Given the description of an element on the screen output the (x, y) to click on. 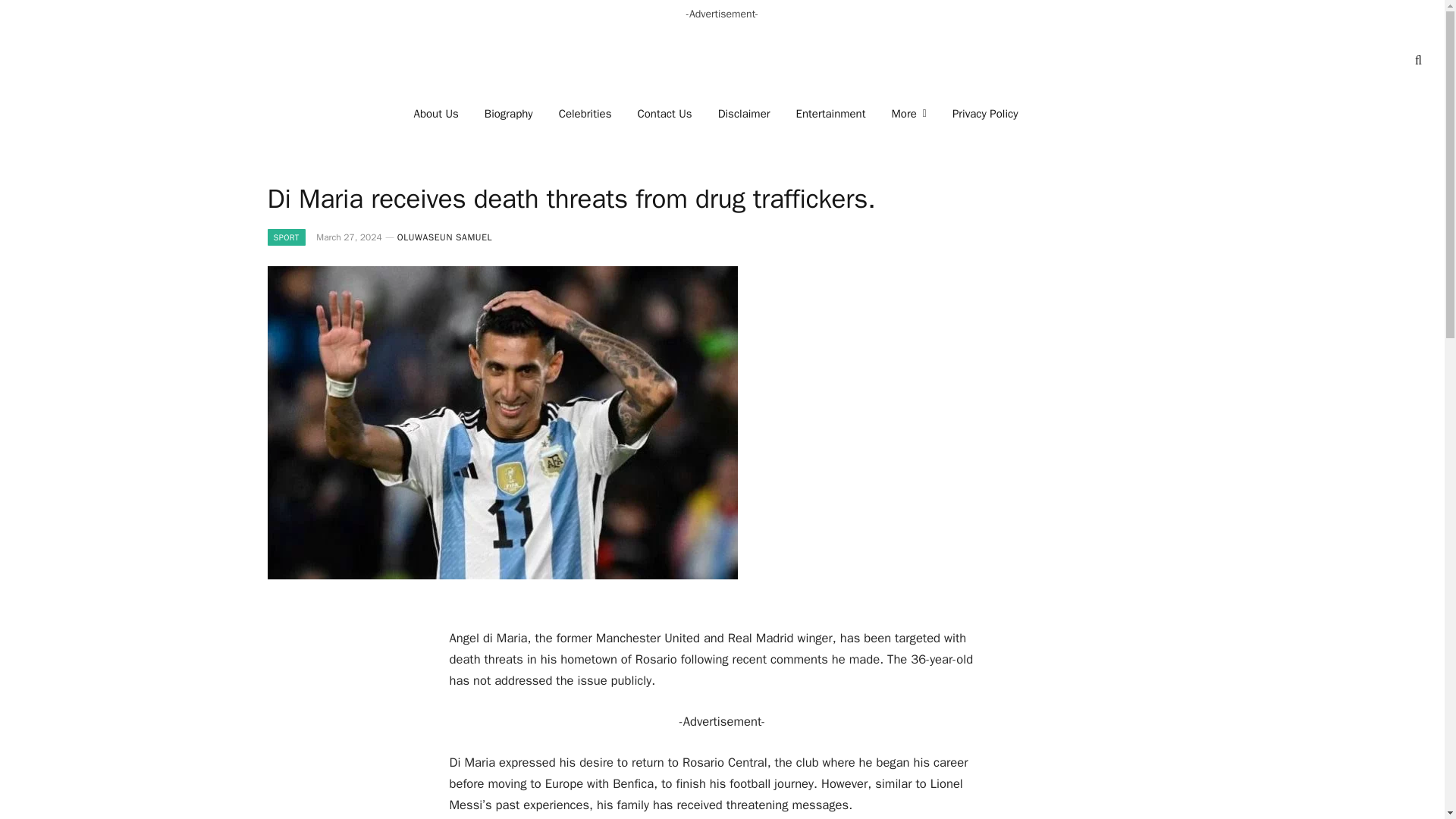
Posts by Oluwaseun samuel (444, 236)
Celebrities (585, 113)
Privacy Policy (984, 113)
Search (1417, 59)
Di Maria receives death threats from drug traffickers. (501, 575)
Disclaimer (743, 113)
Biography (508, 113)
About Us (436, 113)
More (908, 113)
SPORT (285, 237)
Entertainment (831, 113)
Contact Us (664, 113)
OLUWASEUN SAMUEL (444, 236)
